Given the description of an element on the screen output the (x, y) to click on. 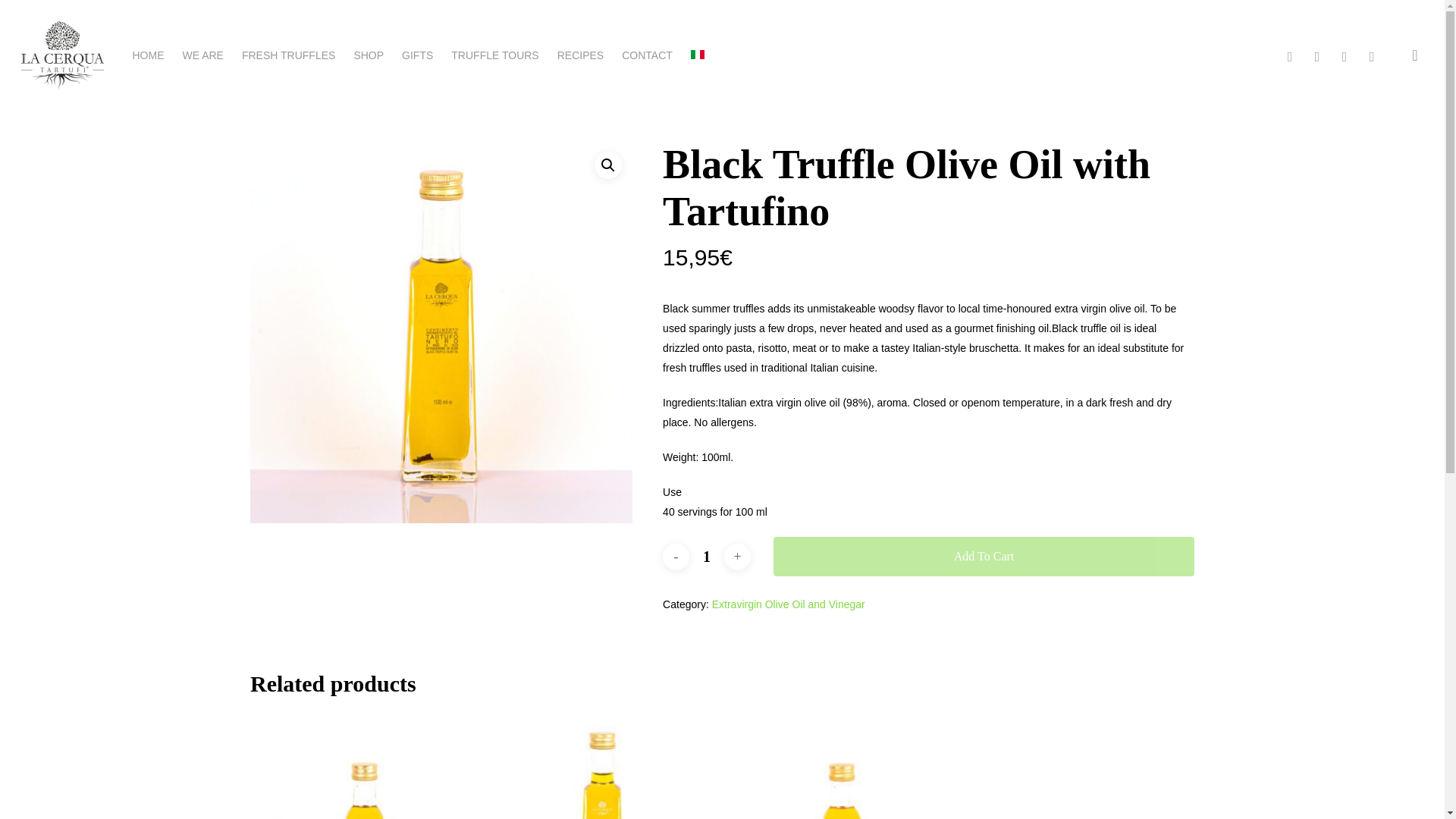
facebook (1289, 54)
WE ARE (202, 55)
- (675, 555)
1 (705, 555)
tripadvisor (1344, 54)
HOME (147, 55)
RECIPES (580, 55)
email (1372, 54)
CONTACT (646, 55)
